Given the description of an element on the screen output the (x, y) to click on. 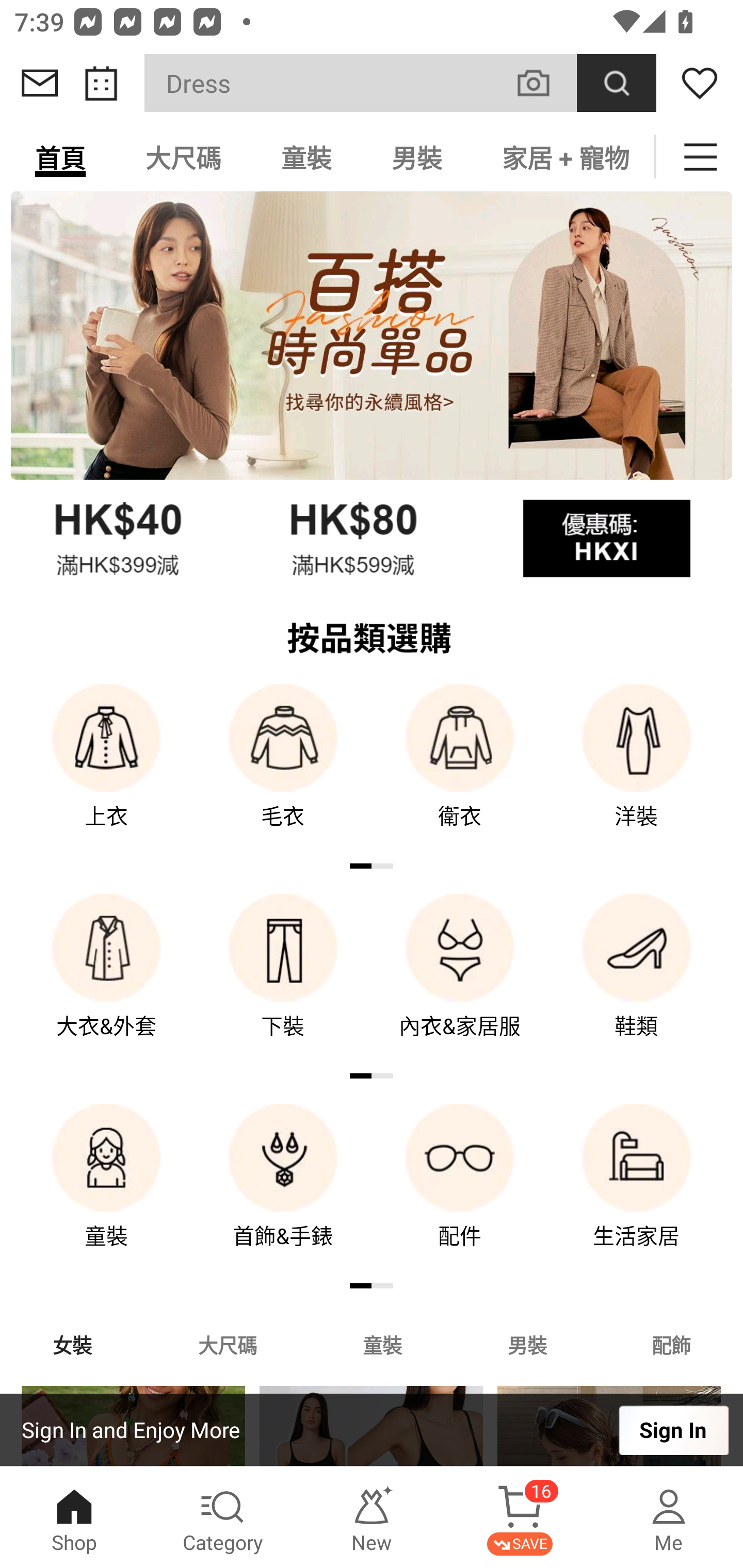
Wishlist (699, 82)
VISUAL SEARCH (543, 82)
首頁 (60, 156)
大尺碼 (183, 156)
童裝 (306, 156)
男裝 (416, 156)
家居 + 寵物 (563, 156)
上衣 (105, 769)
毛衣 (282, 769)
衛衣 (459, 769)
洋裝 (636, 769)
大衣&外套 (105, 979)
下裝 (282, 979)
內衣&家居服 (459, 979)
鞋類 (636, 979)
童裝 (105, 1189)
首飾&手錶 (282, 1189)
配件 (459, 1189)
生活家居 (636, 1189)
女裝 (72, 1344)
大尺碼 (226, 1344)
童裝 (381, 1344)
男裝 (527, 1344)
配飾 (671, 1344)
Sign In and Enjoy More Sign In (371, 1429)
Category (222, 1517)
New (371, 1517)
Cart 16 SAVE (519, 1517)
Me (668, 1517)
